Given the description of an element on the screen output the (x, y) to click on. 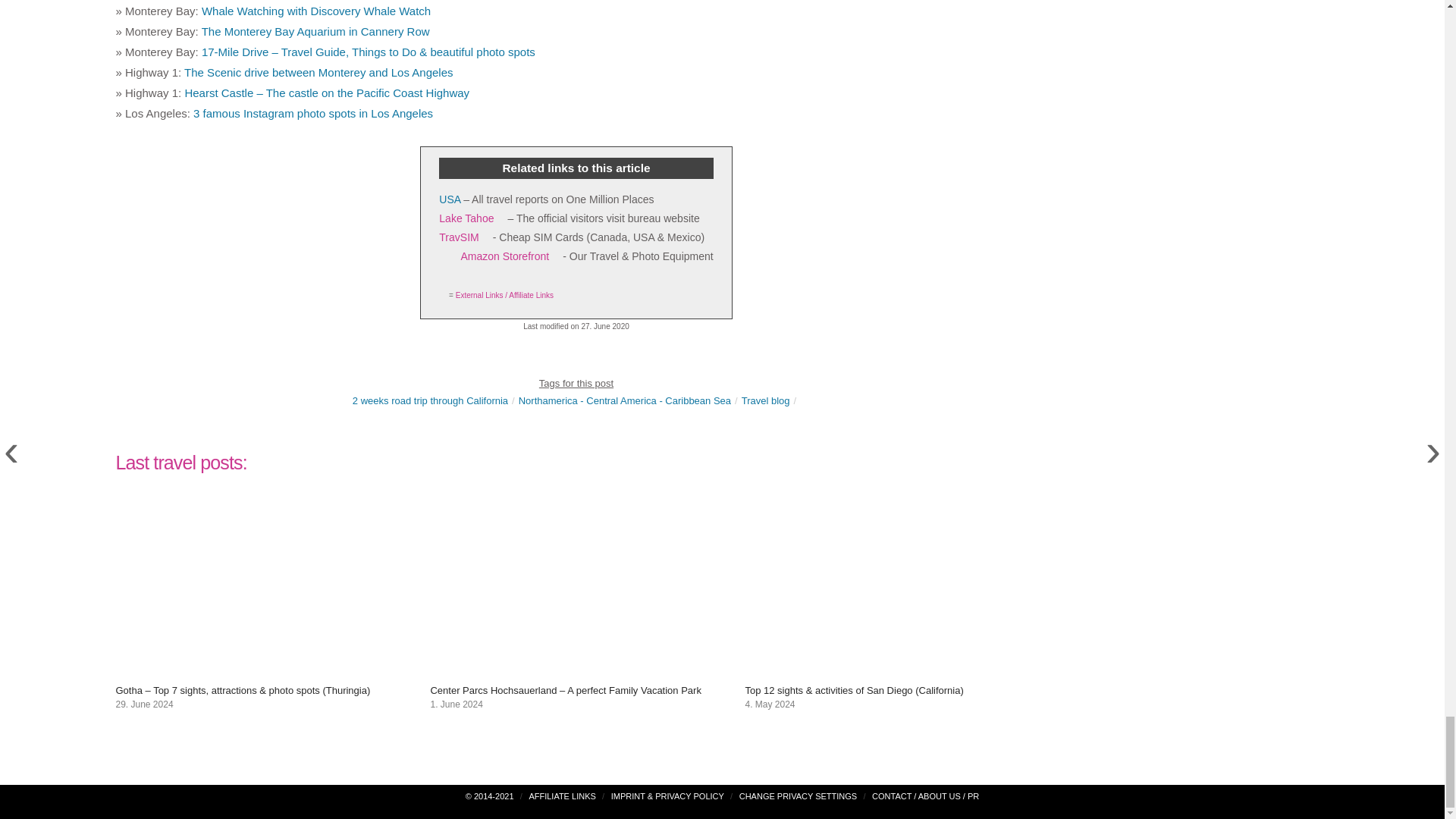
15:00 (769, 704)
15:24 (455, 704)
10:39 (144, 704)
